Given the description of an element on the screen output the (x, y) to click on. 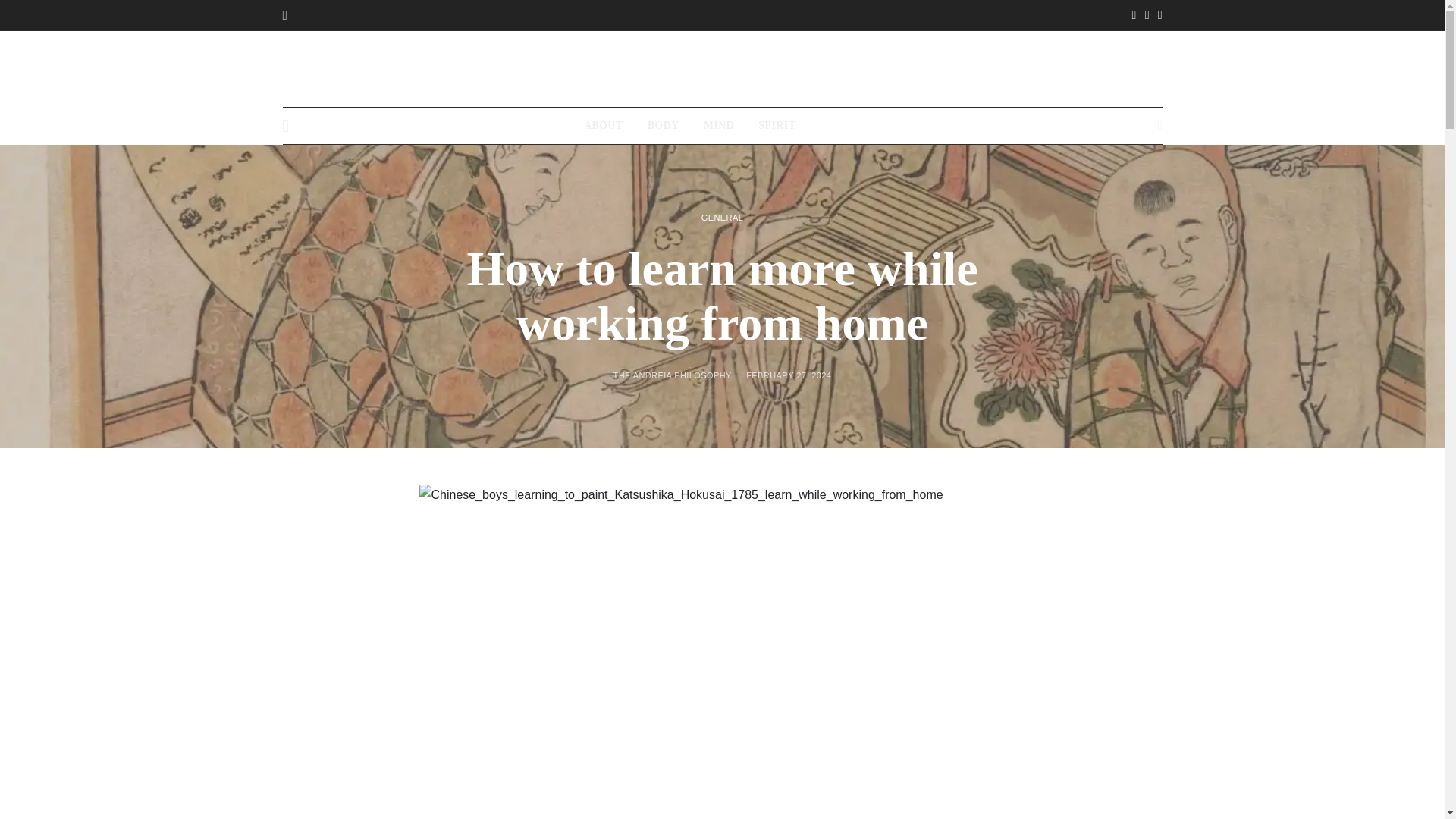
FEBRUARY 27, 2024 (788, 375)
THE ANDREIA PHILOSOPHY (672, 375)
GENERAL (721, 216)
GENERAL (848, 125)
THE ANDREIA PHILOSOPHY (721, 68)
ABOUT (603, 125)
SPIRIT (776, 125)
View all posts by The Andreia Philosophy (672, 375)
